Given the description of an element on the screen output the (x, y) to click on. 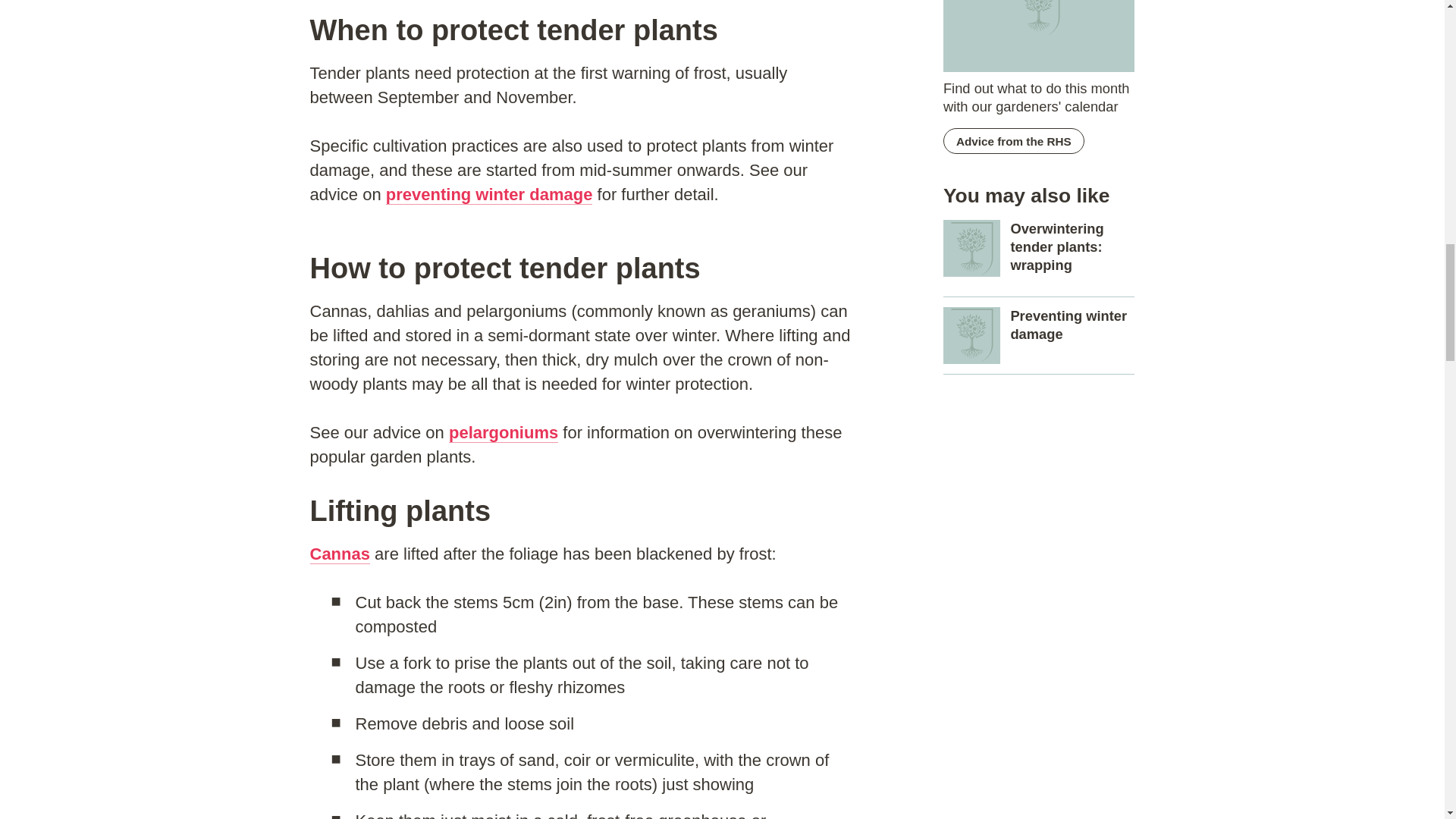
Link to advice on preventing winter damage (488, 194)
Link to advice on pelargoniums (502, 433)
You may also like (972, 335)
You may also like (972, 248)
